Given the description of an element on the screen output the (x, y) to click on. 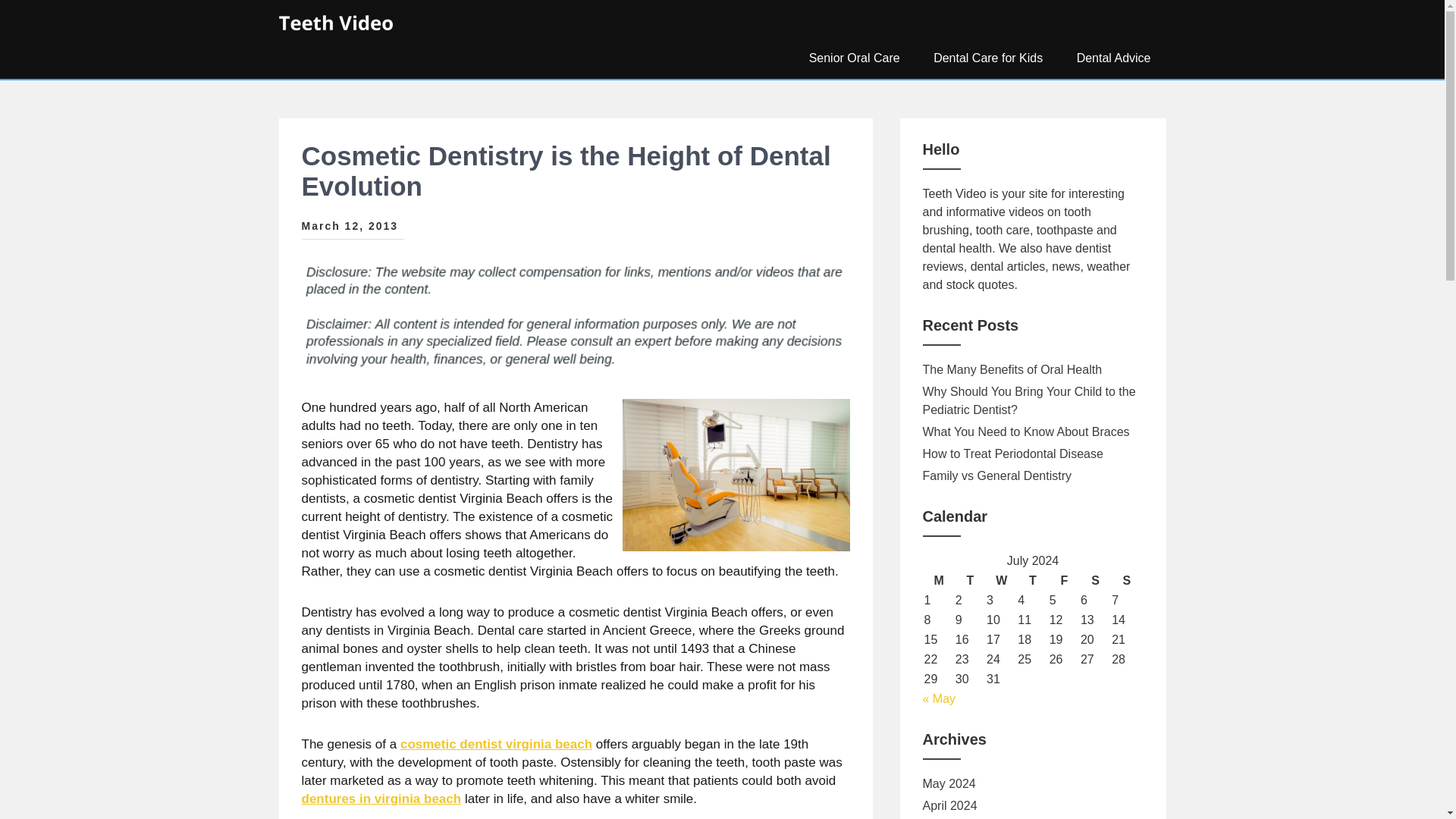
cosmetic dentist virginia beach (496, 744)
Friday (1063, 580)
Monday (938, 580)
Why Should You Bring Your Child to the Pediatric Dentist? (1031, 401)
Tuesday (970, 580)
The Many Benefits of Oral Health (1011, 370)
Thursday (1031, 580)
Teeth Video (352, 50)
Dental Advice (1113, 57)
How to Treat Periodontal Disease (1011, 454)
May 2024 (948, 783)
I have more like this (381, 798)
Wednesday (1001, 580)
Saturday (1094, 580)
dentures in virginia beach (381, 798)
